Given the description of an element on the screen output the (x, y) to click on. 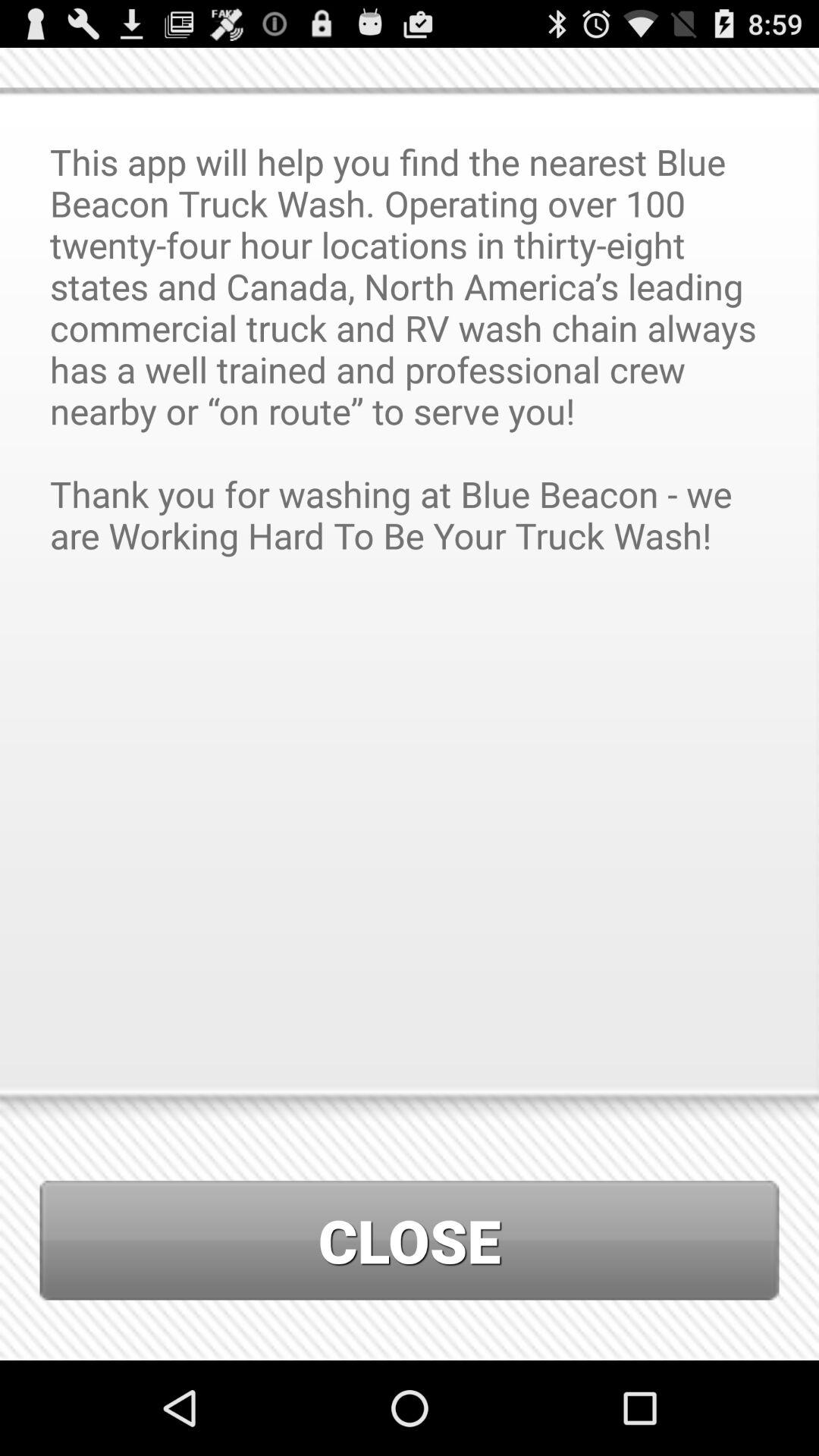
tap the icon below the this app will icon (409, 1240)
